Given the description of an element on the screen output the (x, y) to click on. 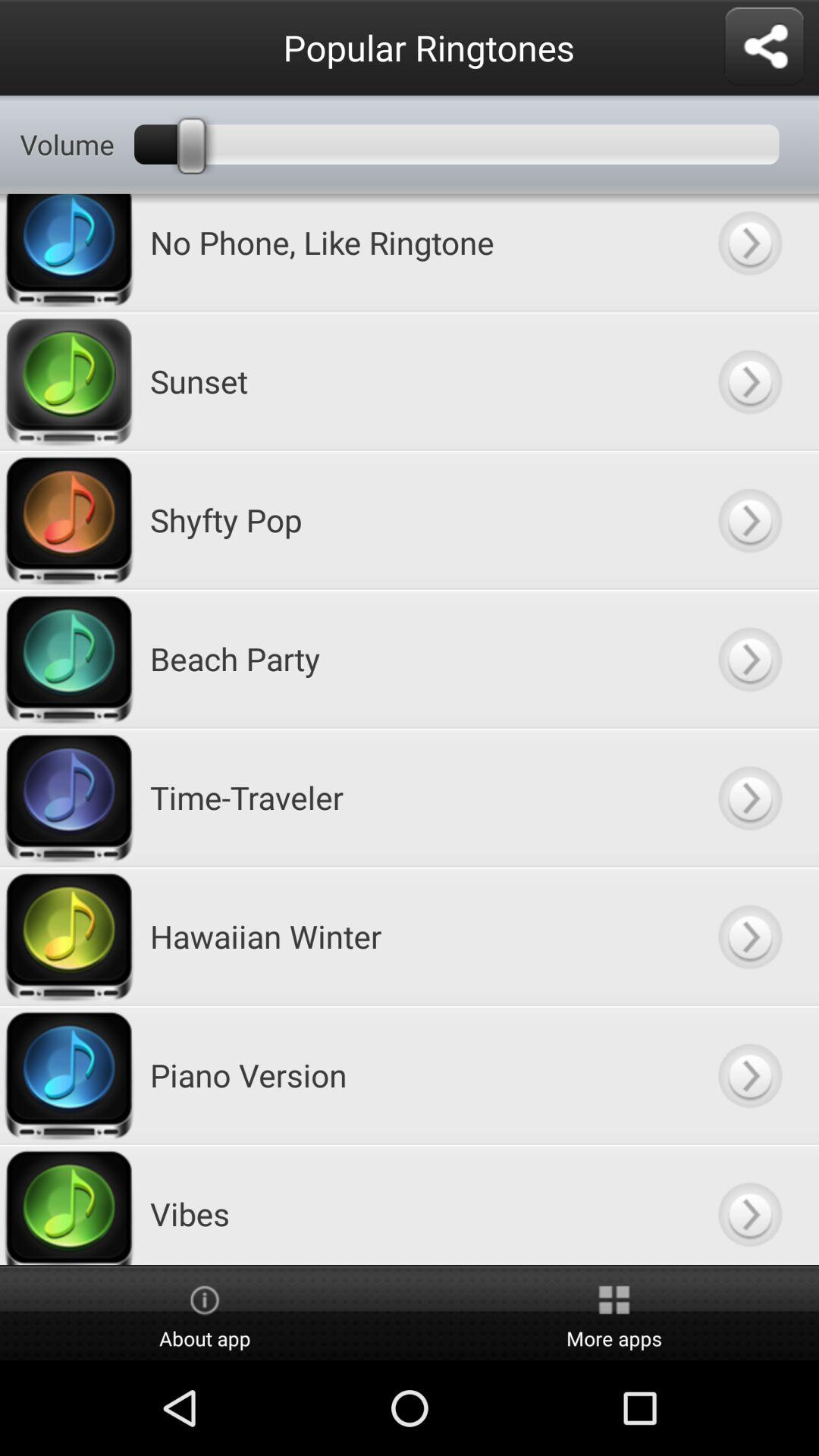
open shyfty pop (749, 520)
